Given the description of an element on the screen output the (x, y) to click on. 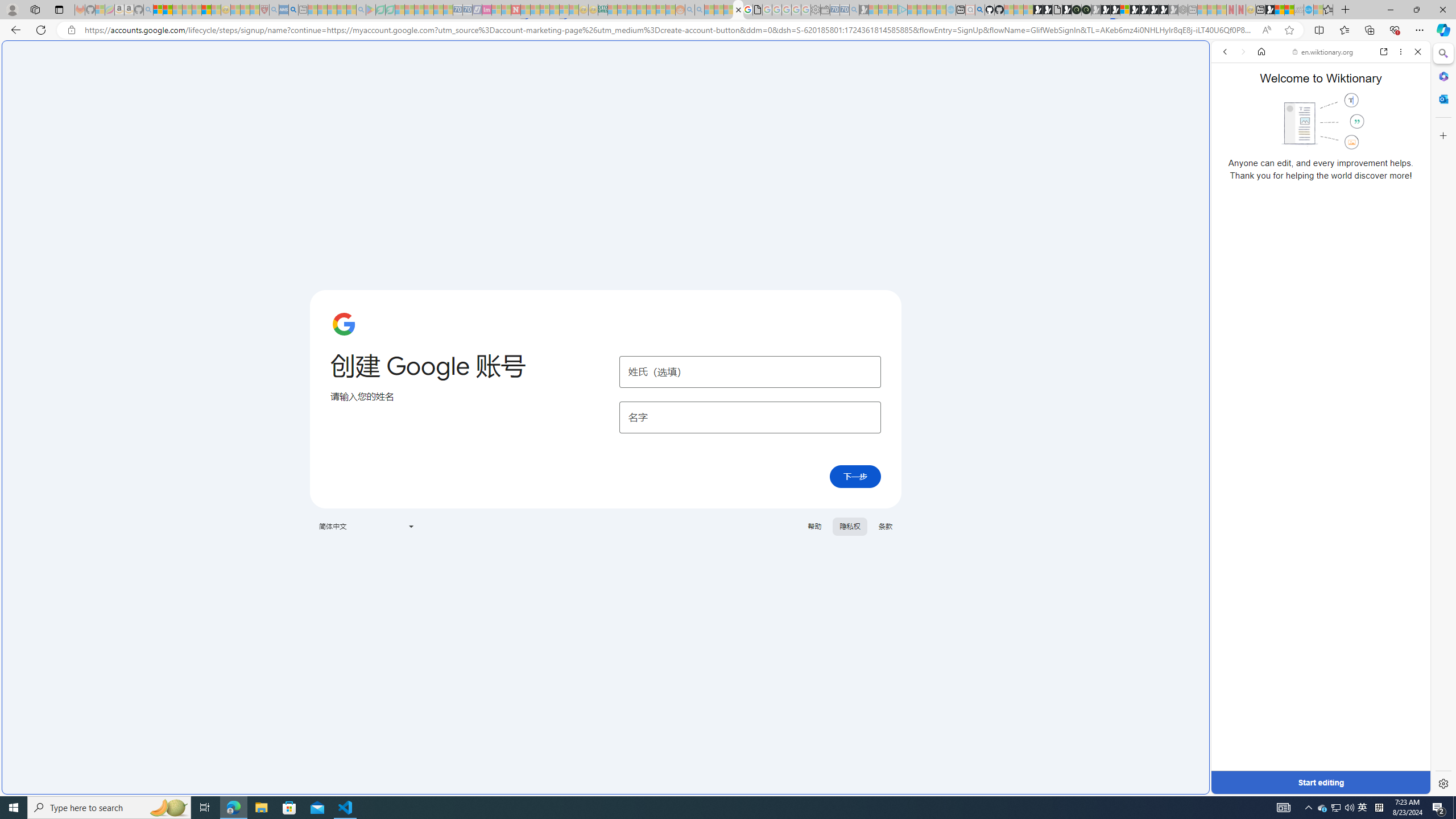
Services - Maintenance | Sky Blue Bikes - Sky Blue Bikes (1307, 9)
Tabs you've opened (885, 151)
